Given the description of an element on the screen output the (x, y) to click on. 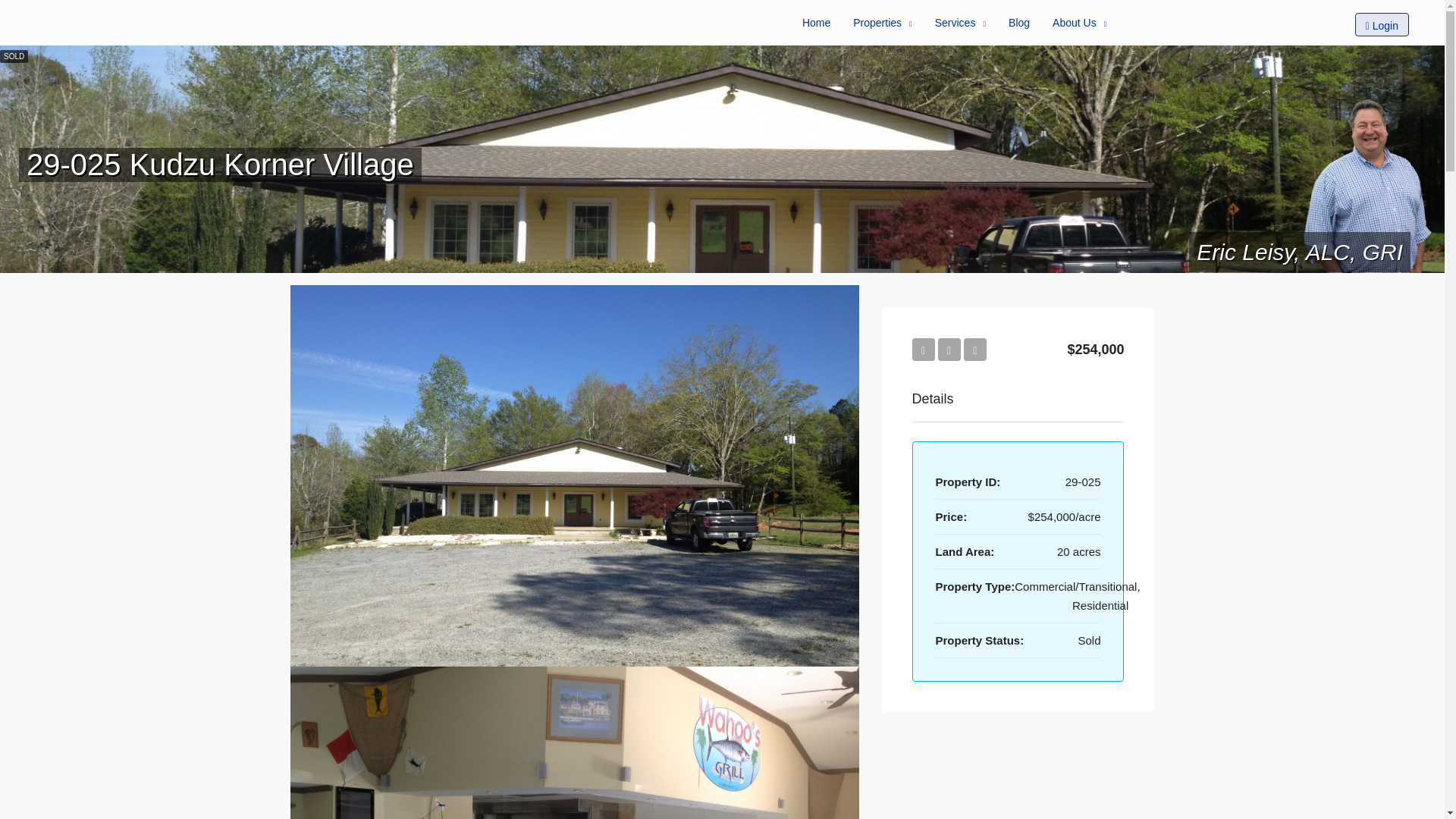
Properties (882, 23)
Services (960, 23)
Home (815, 22)
